Given the description of an element on the screen output the (x, y) to click on. 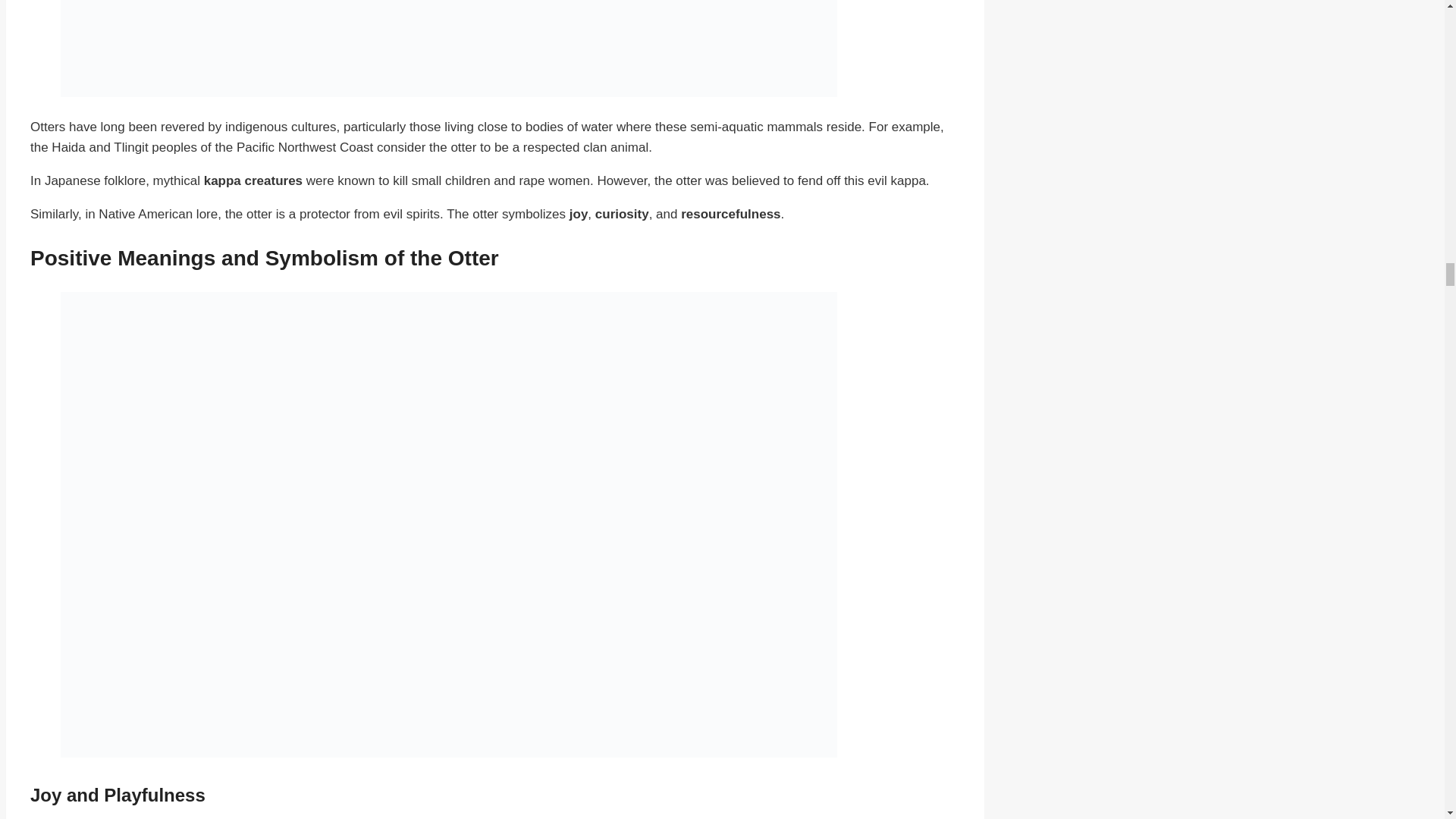
Otter Symbolism and Meaning 2 (449, 48)
